Given the description of an element on the screen output the (x, y) to click on. 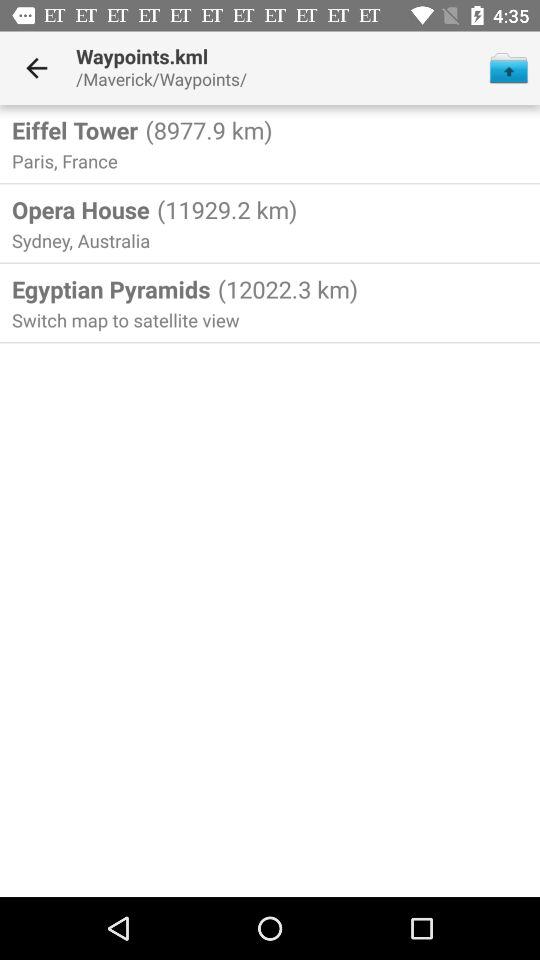
tap item to the left of the  (8977.9 km) (75, 130)
